Given the description of an element on the screen output the (x, y) to click on. 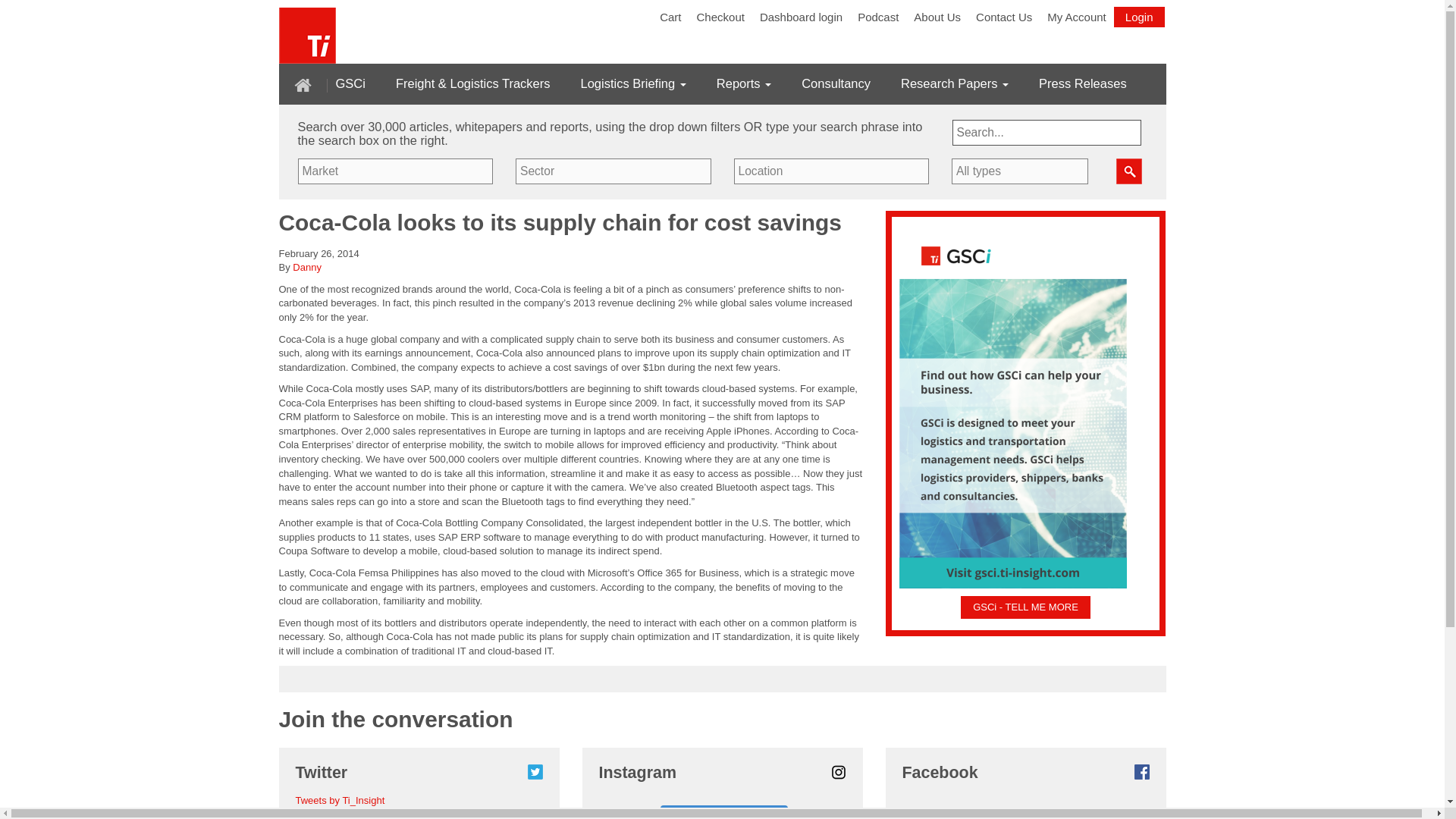
About Us (936, 16)
Podcast (877, 16)
Podcast (877, 16)
Checkout (720, 16)
Checkout (720, 16)
Press Releases (1082, 83)
Reports (743, 83)
Logistics Briefing (632, 83)
About Us (936, 16)
Login (1138, 16)
